Given the description of an element on the screen output the (x, y) to click on. 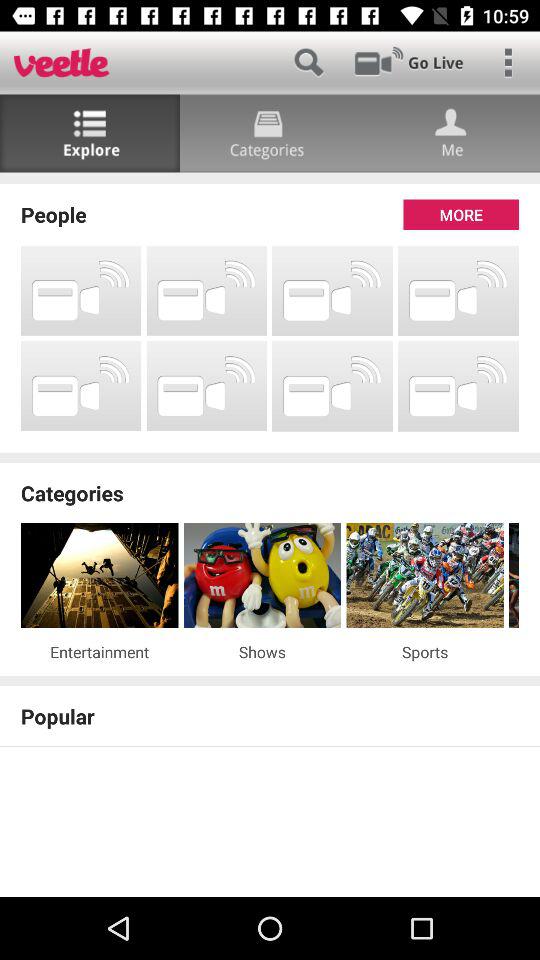
choose item above the categories (270, 457)
